Given the description of an element on the screen output the (x, y) to click on. 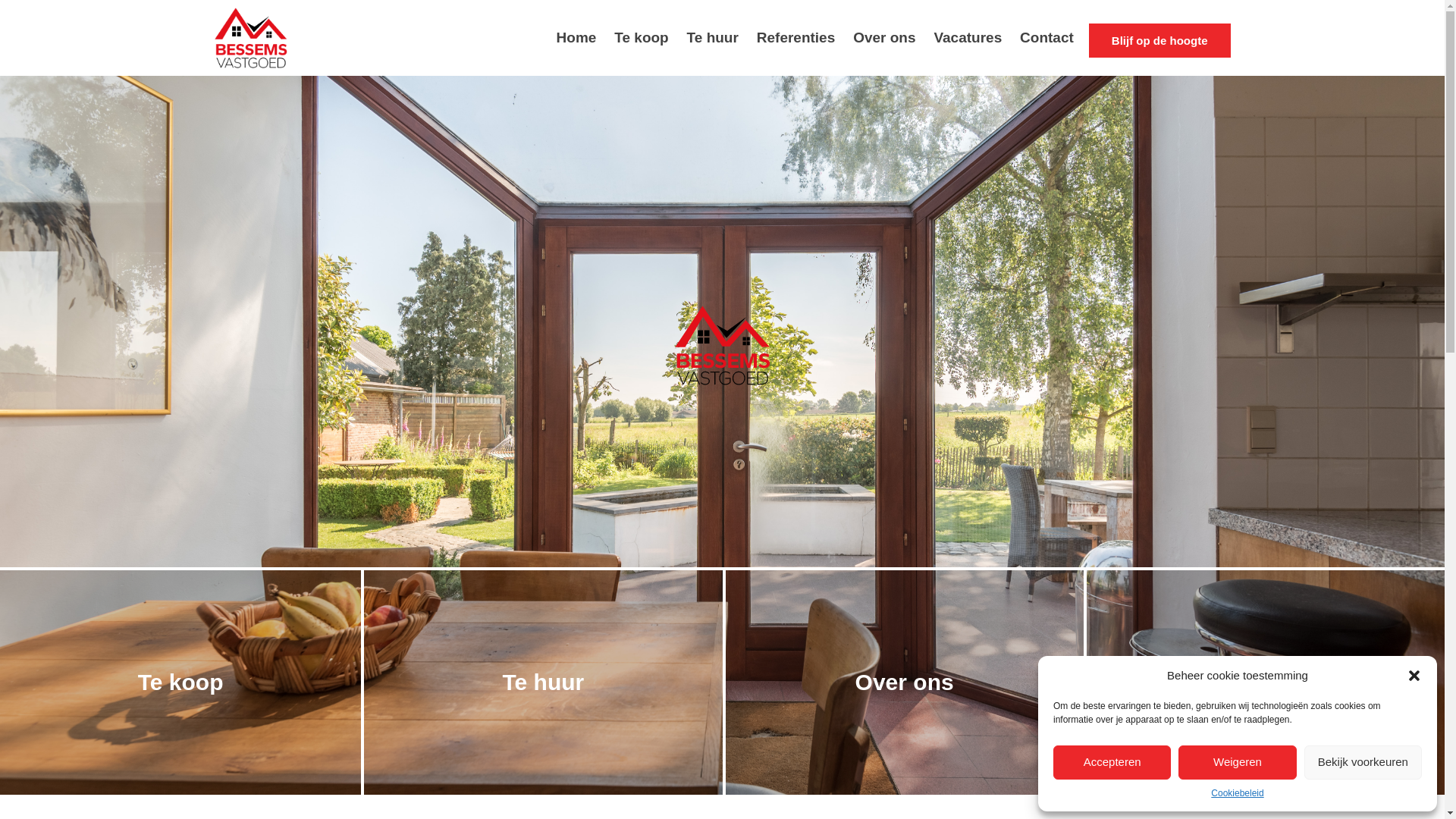
Accepteren Element type: text (1111, 762)
Bekijk voorkeuren Element type: text (1362, 762)
Weigeren Element type: text (1236, 762)
Te huur Element type: text (540, 680)
Te huur Element type: text (712, 37)
Vacatures Element type: text (967, 37)
Home Element type: text (576, 37)
Contact Element type: text (1263, 680)
Blijf op de hoogte Element type: text (1159, 40)
Over ons Element type: text (901, 680)
Te koop Element type: text (641, 37)
Contact Element type: text (1046, 37)
Te koop Element type: text (180, 680)
Cookiebeleid Element type: text (1237, 793)
Referenties Element type: text (795, 37)
Over ons Element type: text (884, 37)
